Given the description of an element on the screen output the (x, y) to click on. 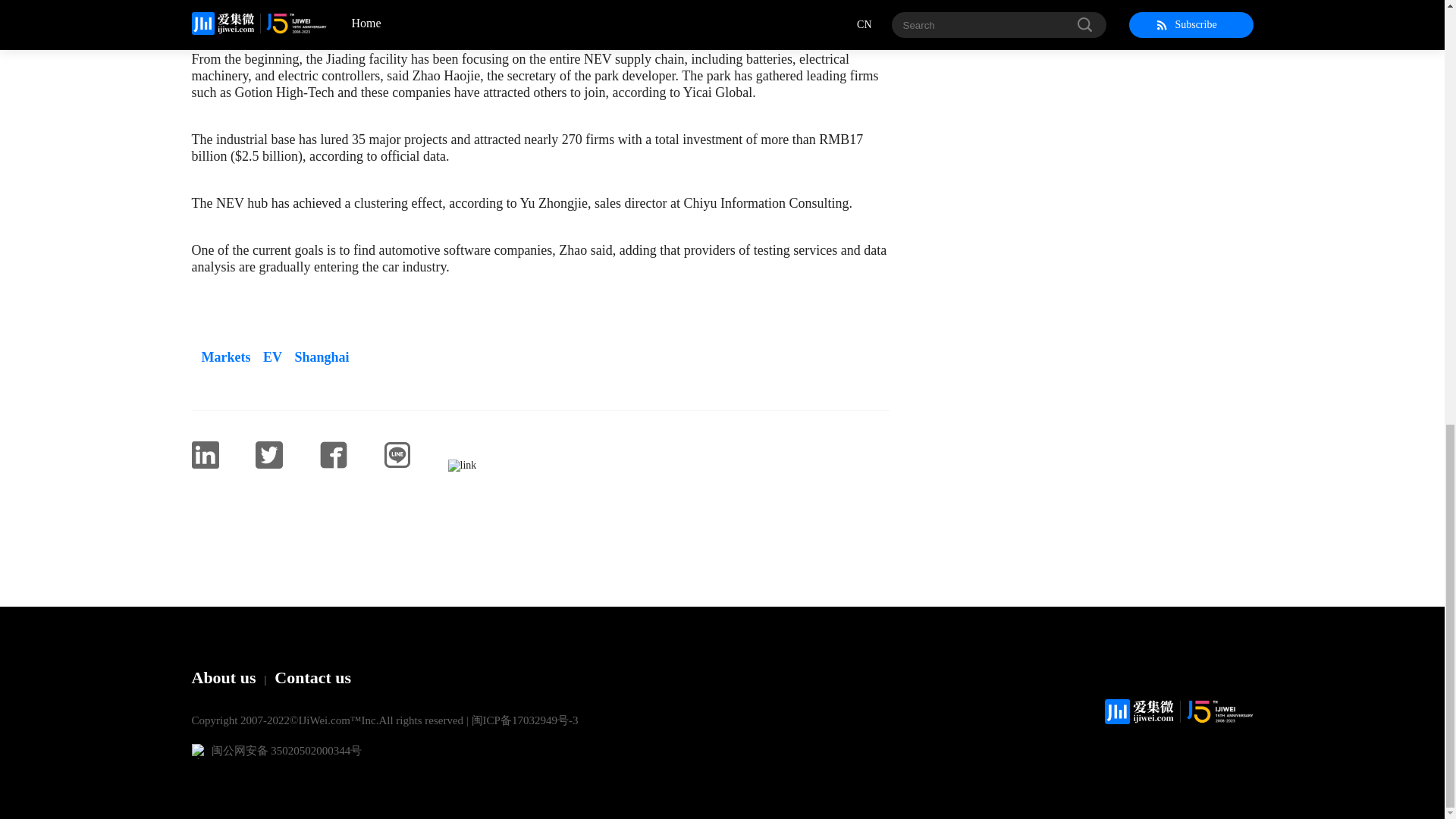
Markets (220, 356)
Shanghai (317, 356)
EV (267, 356)
Contact us (312, 677)
About us (223, 677)
